Given the description of an element on the screen output the (x, y) to click on. 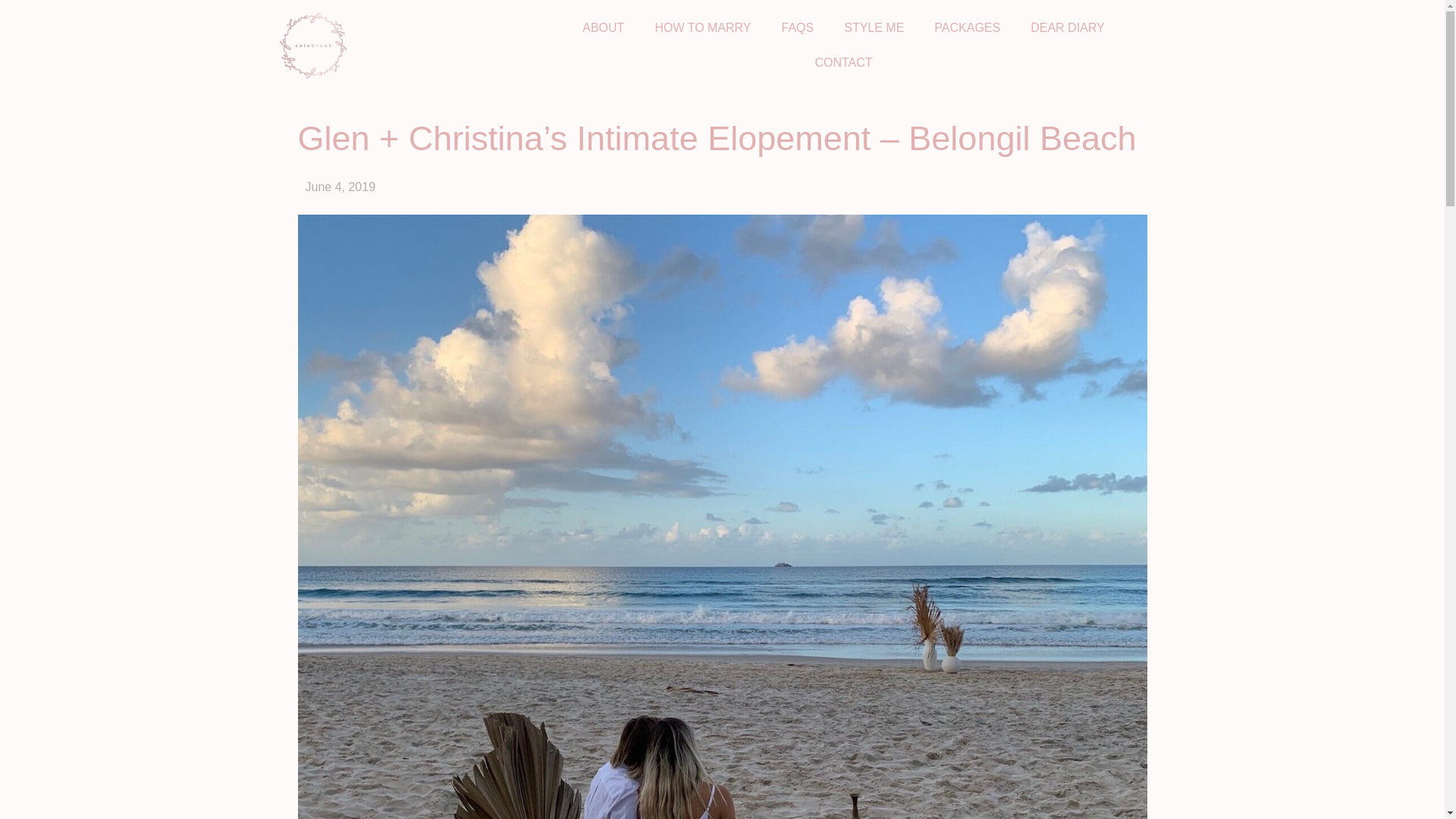
FAQS (798, 27)
ABOUT (603, 27)
STYLE ME (873, 27)
CONTACT (842, 62)
DEAR DIARY (1066, 27)
PACKAGES (966, 27)
HOW TO MARRY (702, 27)
